Given the description of an element on the screen output the (x, y) to click on. 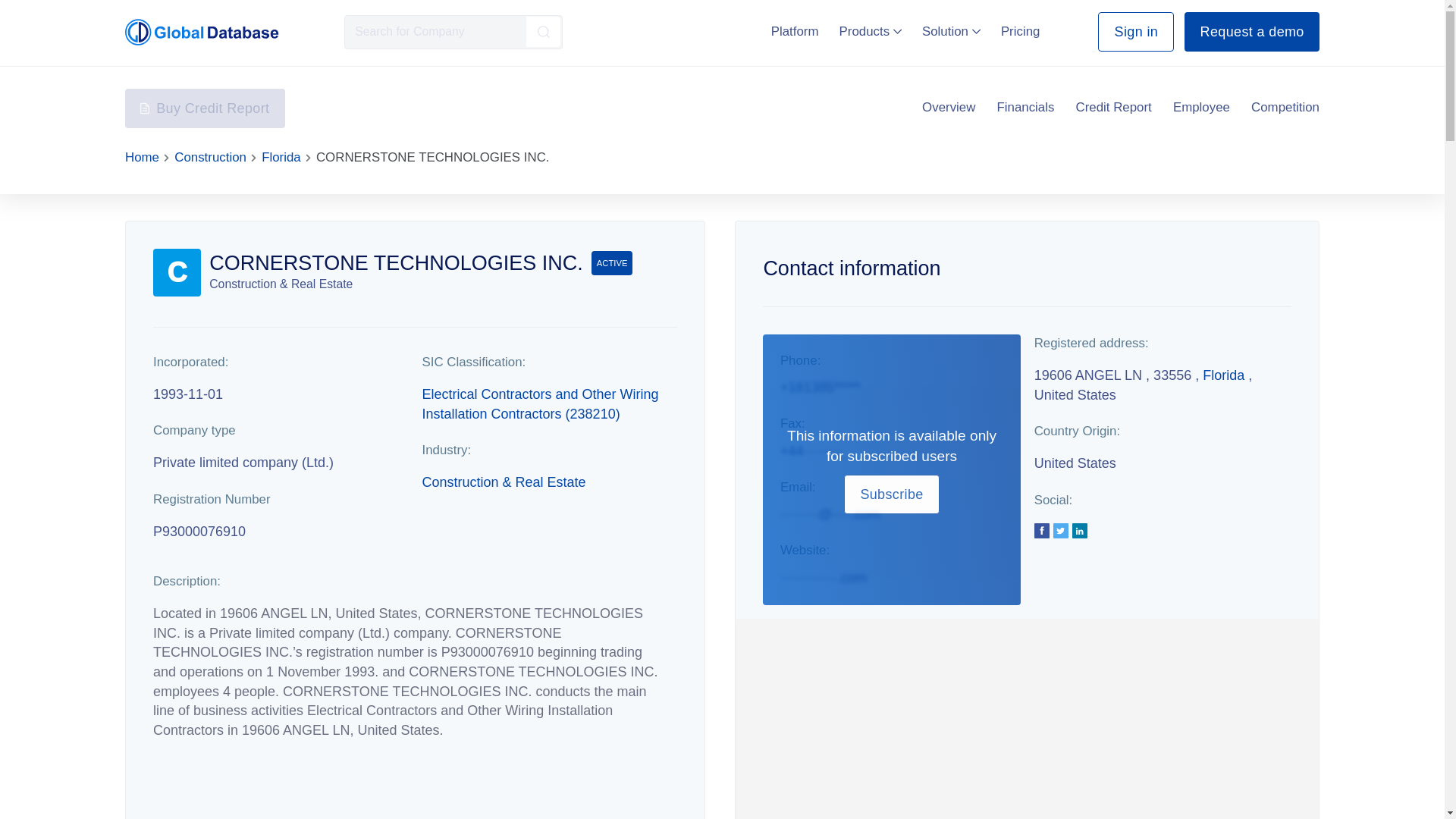
Overview (948, 107)
Competition (1284, 107)
Request a demo (1252, 31)
Credit Report (1113, 107)
Buy Credit Report (205, 107)
Pricing (1021, 31)
Financials (1024, 107)
Sign in (1135, 31)
Platform (794, 31)
Employee (1201, 107)
